Given the description of an element on the screen output the (x, y) to click on. 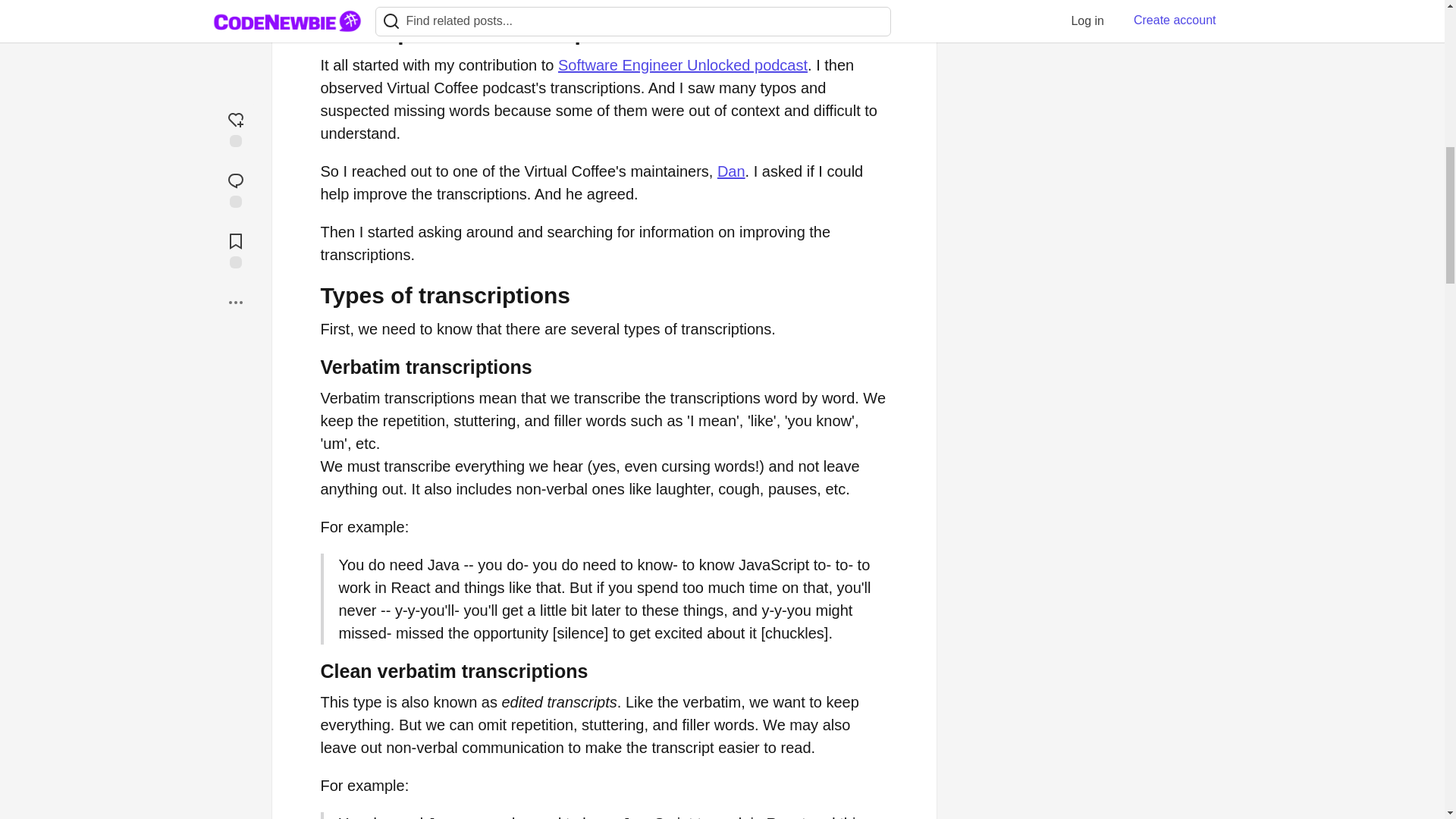
Dan (731, 170)
Software Engineer Unlocked podcast (682, 64)
